Given the description of an element on the screen output the (x, y) to click on. 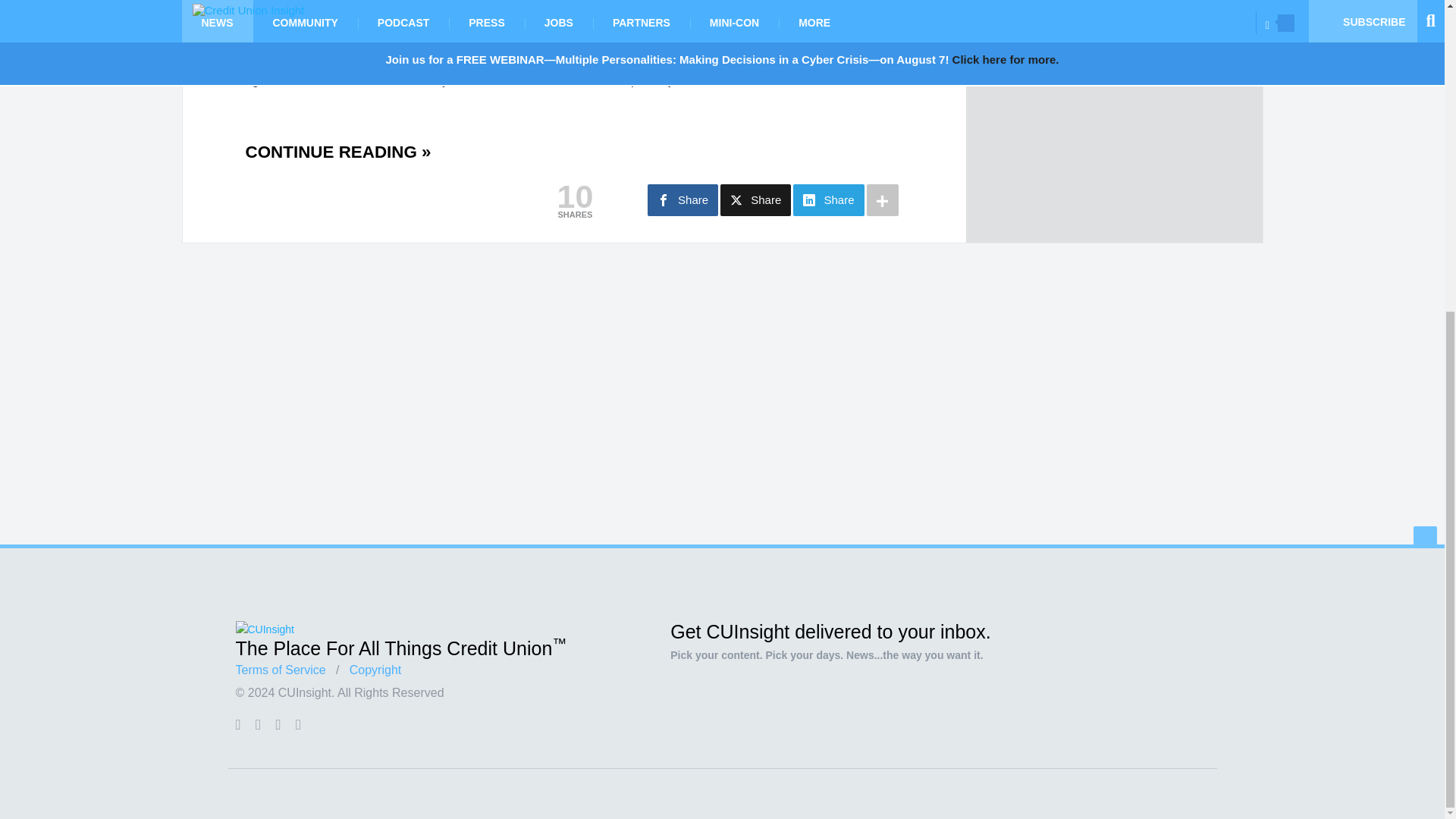
instagram (298, 724)
Facebook (237, 724)
linkedin (278, 724)
twitter (258, 724)
